Given the description of an element on the screen output the (x, y) to click on. 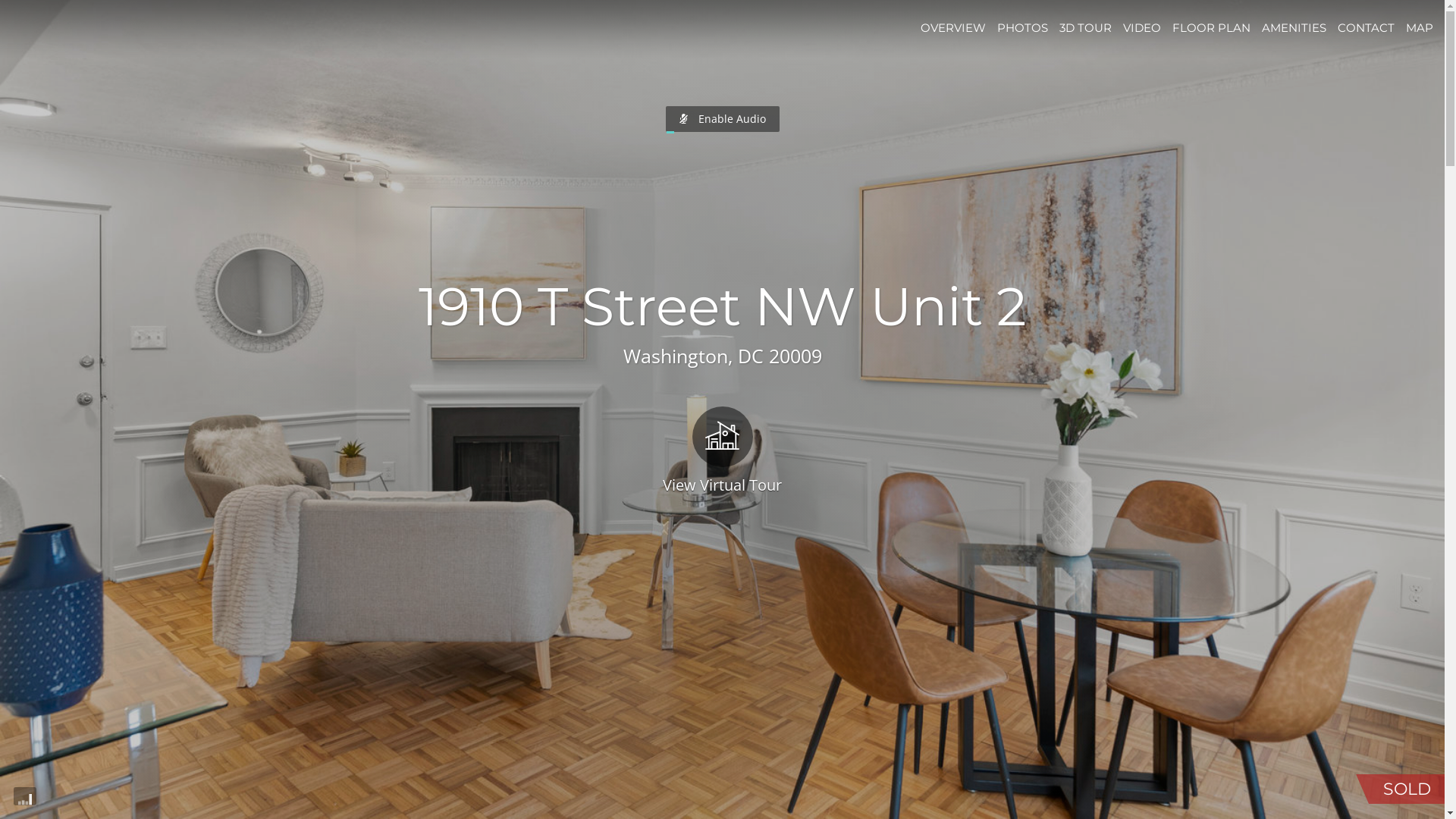
CONTACT Element type: text (1365, 27)
VIDEO Element type: text (1142, 27)
View Virtual Tour Element type: text (722, 448)
MAP Element type: text (1419, 27)
FLOOR PLAN Element type: text (1211, 27)
AMENITIES Element type: text (1293, 27)
OVERVIEW Element type: text (952, 27)
3D TOUR Element type: text (1085, 27)
PHOTOS Element type: text (1022, 27)
